Given the description of an element on the screen output the (x, y) to click on. 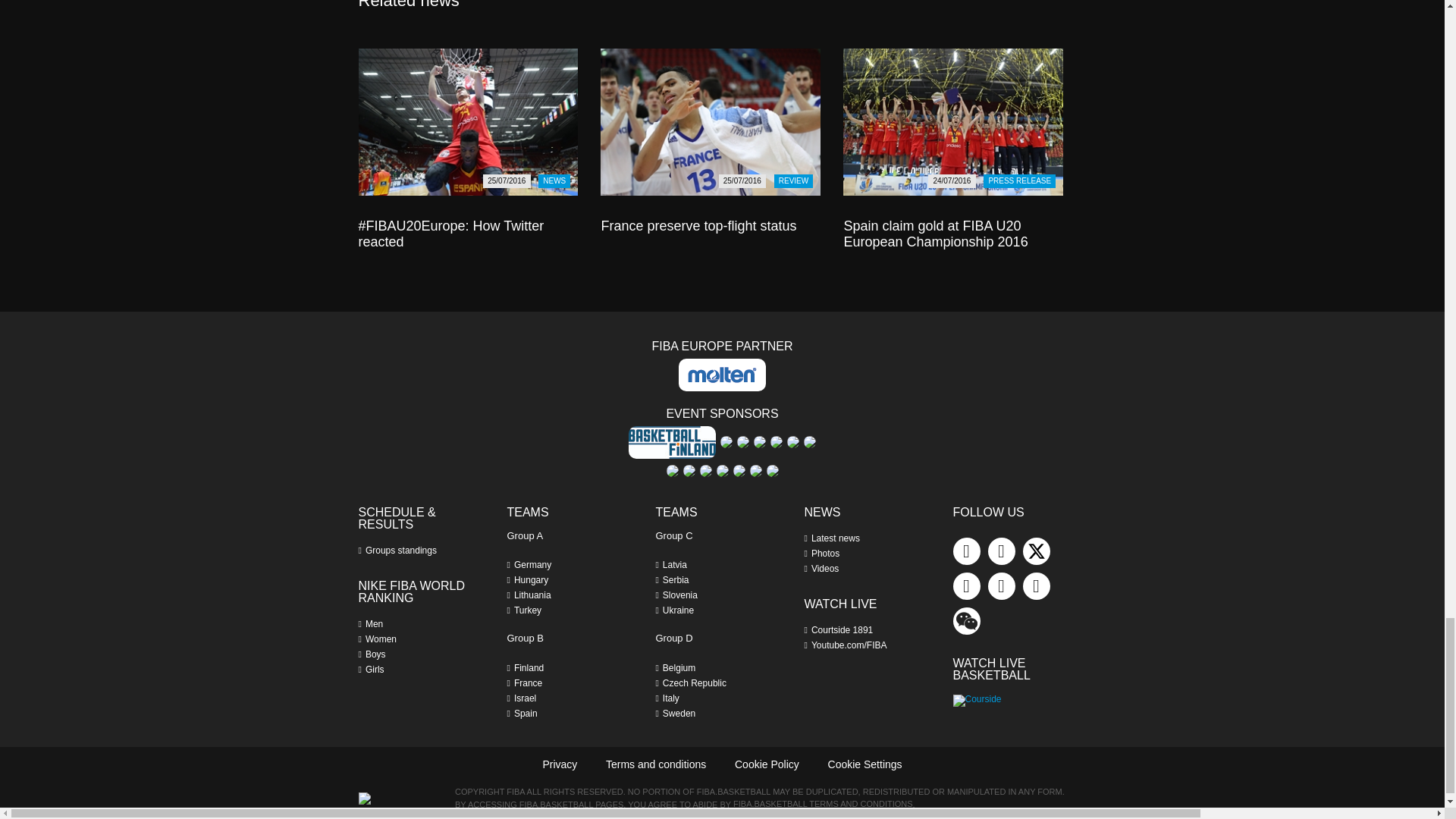
Bilia (726, 441)
Viking Line (771, 470)
Pirkka (688, 470)
HSL (776, 441)
Helsinki Sport City (742, 441)
Molten BG5000 Special Website (721, 374)
Novelle (671, 470)
Radio Rock (704, 470)
Veikkaus (755, 470)
Lehtimaki (809, 441)
Basketball Finland (672, 441)
Iltasanomat (793, 441)
SOL (722, 470)
Vantaan Energia (738, 470)
Holiday Inn (759, 441)
